Given the description of an element on the screen output the (x, y) to click on. 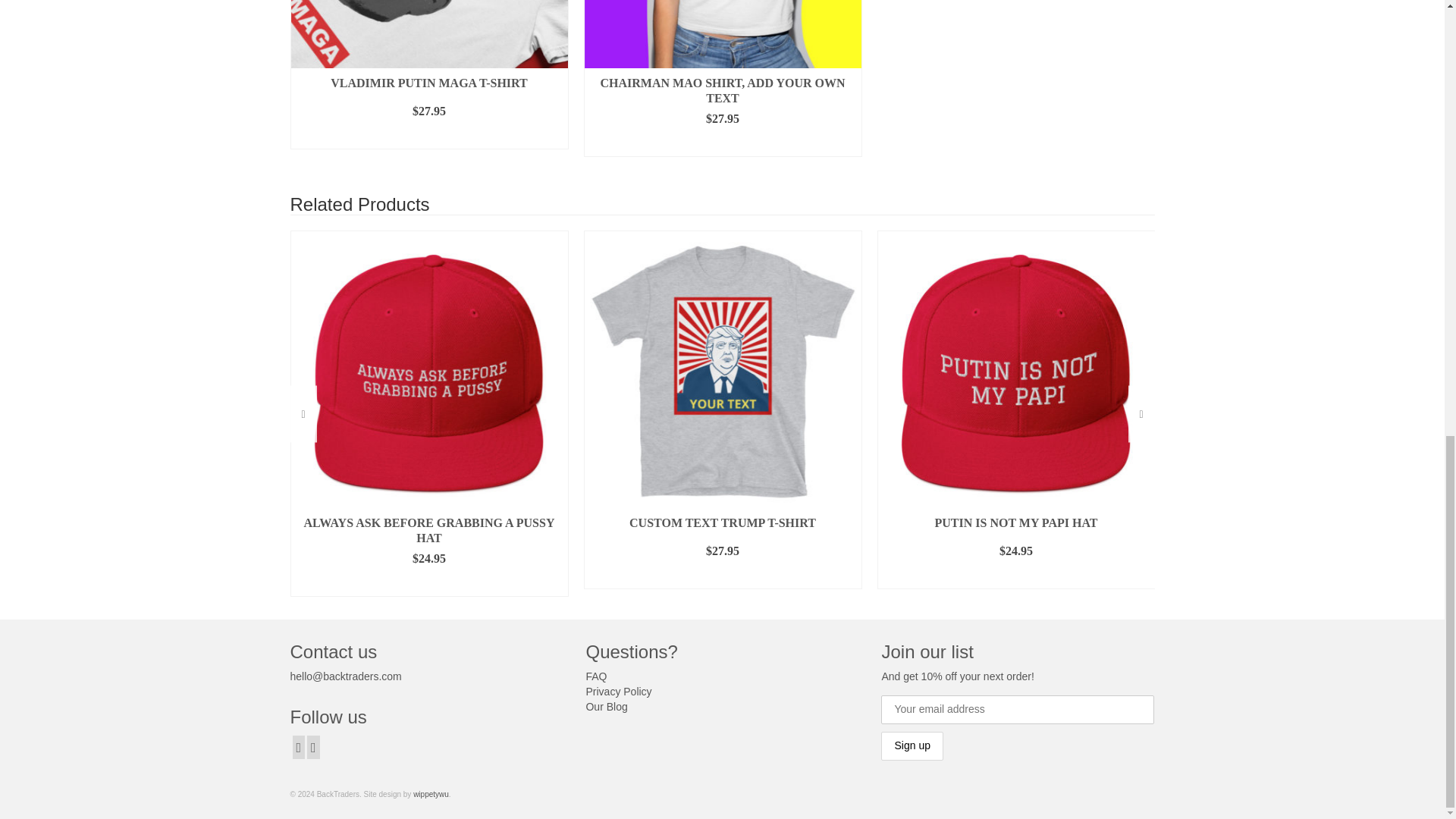
Sign up (911, 746)
